Given the description of an element on the screen output the (x, y) to click on. 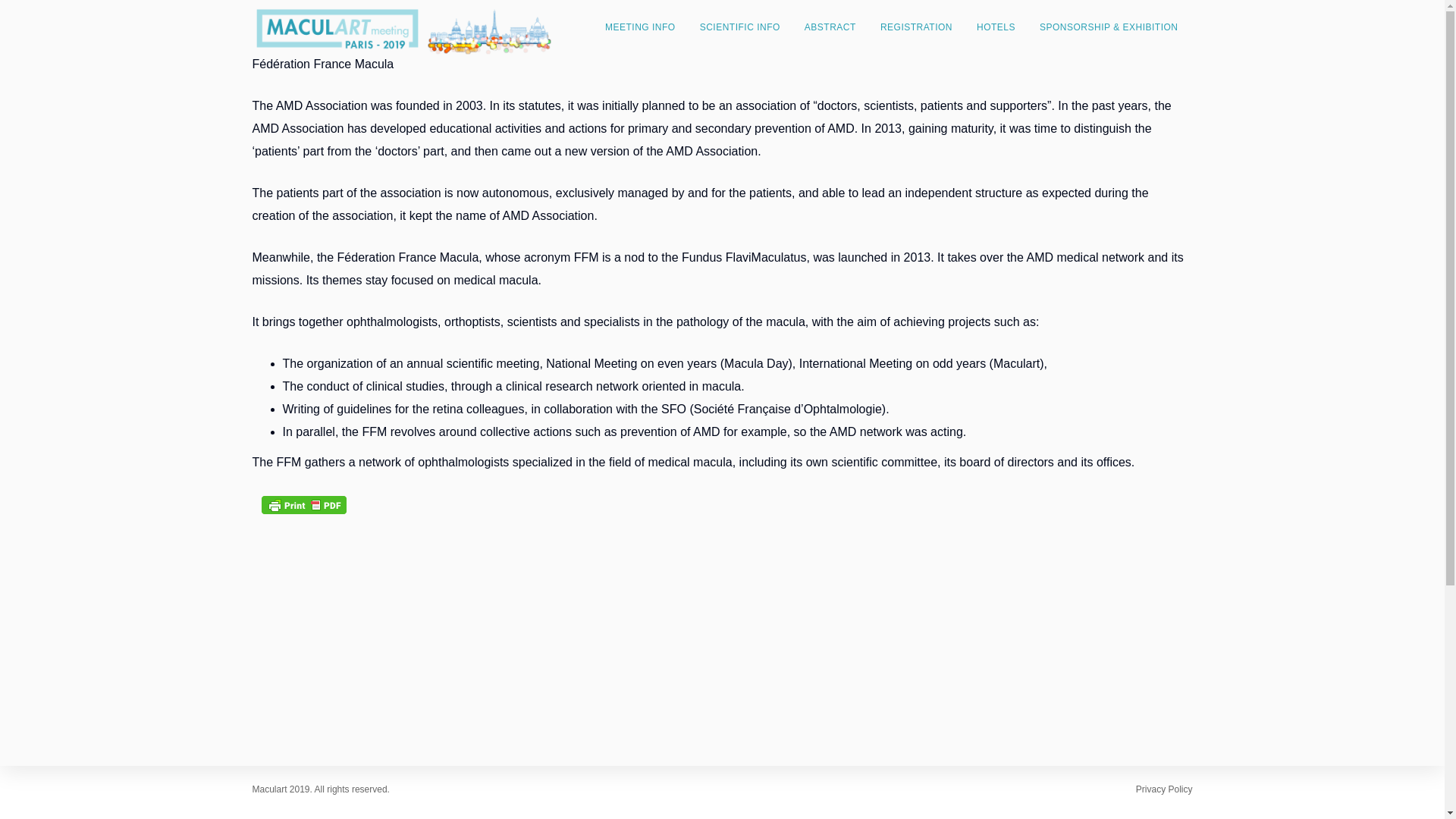
SCIENTIFIC INFO (739, 26)
HOTELS (995, 26)
REGISTRATION (915, 26)
MEETING INFO (639, 26)
Scientific Info (739, 26)
ABSTRACT (829, 26)
Meeting Info (639, 26)
